Given the description of an element on the screen output the (x, y) to click on. 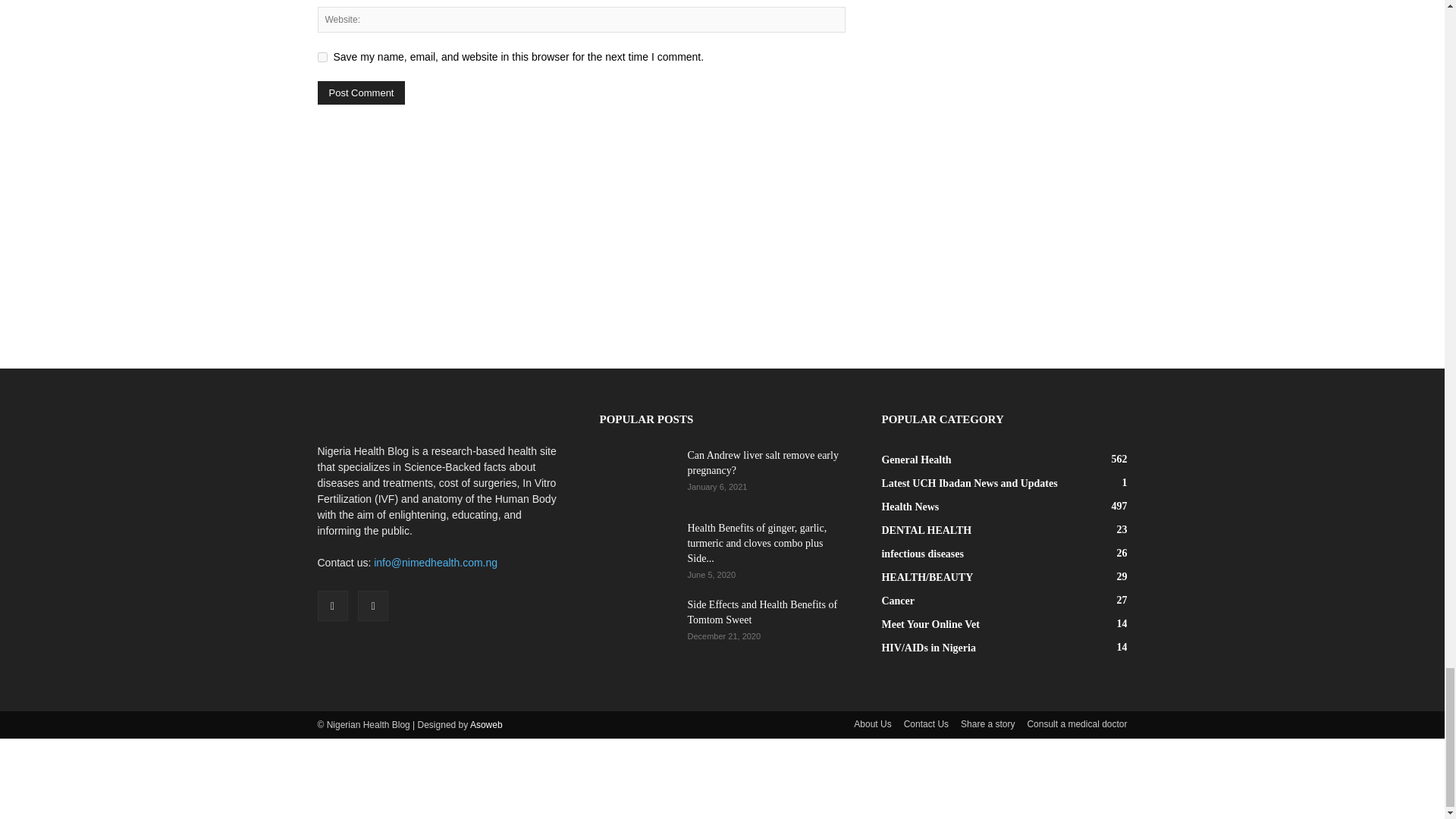
yes (321, 57)
Post Comment (360, 92)
